Given the description of an element on the screen output the (x, y) to click on. 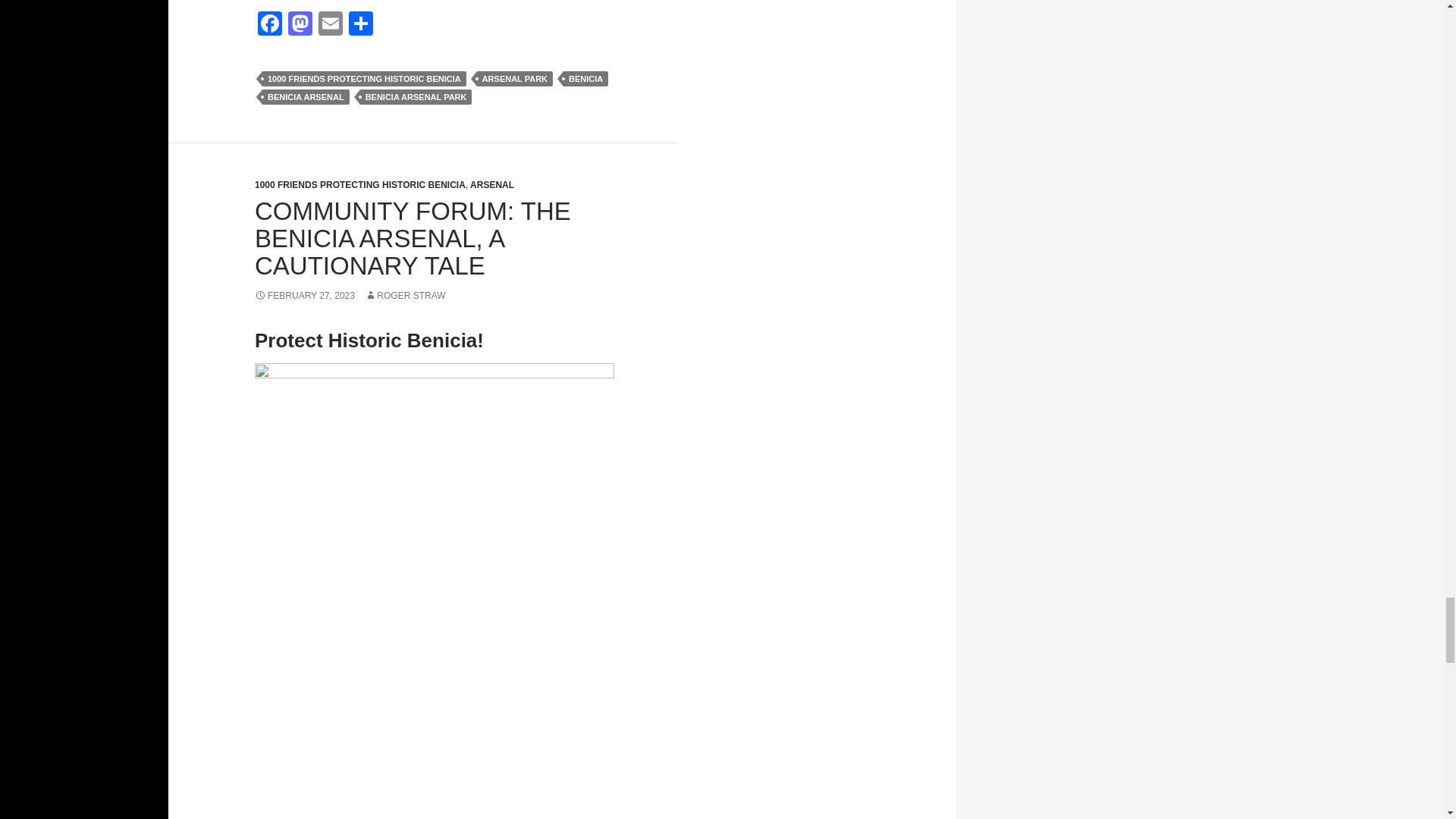
Email (330, 25)
Mastodon (300, 25)
Facebook (269, 25)
